Given the description of an element on the screen output the (x, y) to click on. 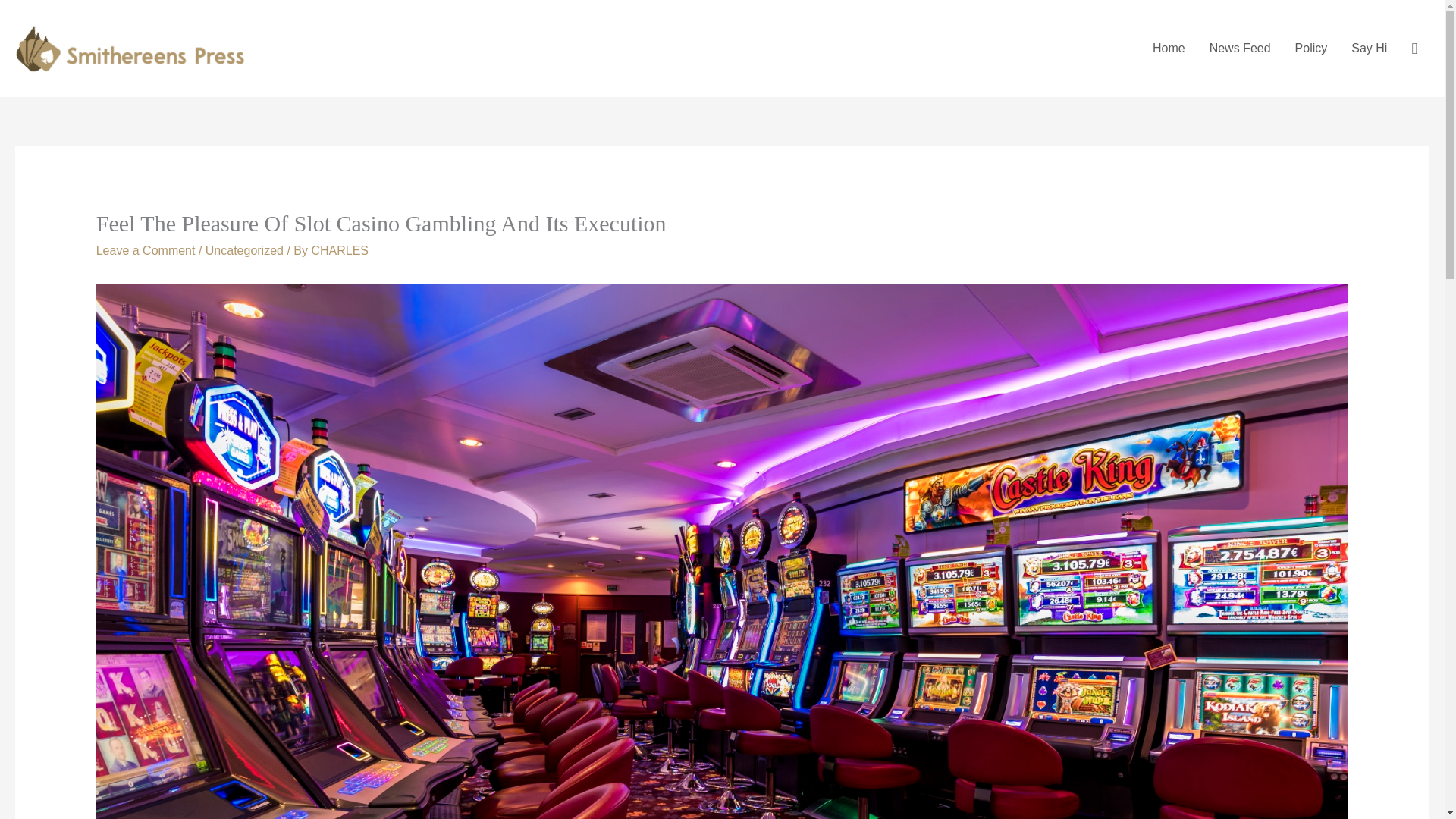
View all posts by CHARLES (339, 250)
Search (18, 17)
Uncategorized (244, 250)
Policy (1310, 48)
News Feed (1239, 48)
Say Hi (1369, 48)
Leave a Comment (145, 250)
CHARLES (339, 250)
Home (1168, 48)
